Given the description of an element on the screen output the (x, y) to click on. 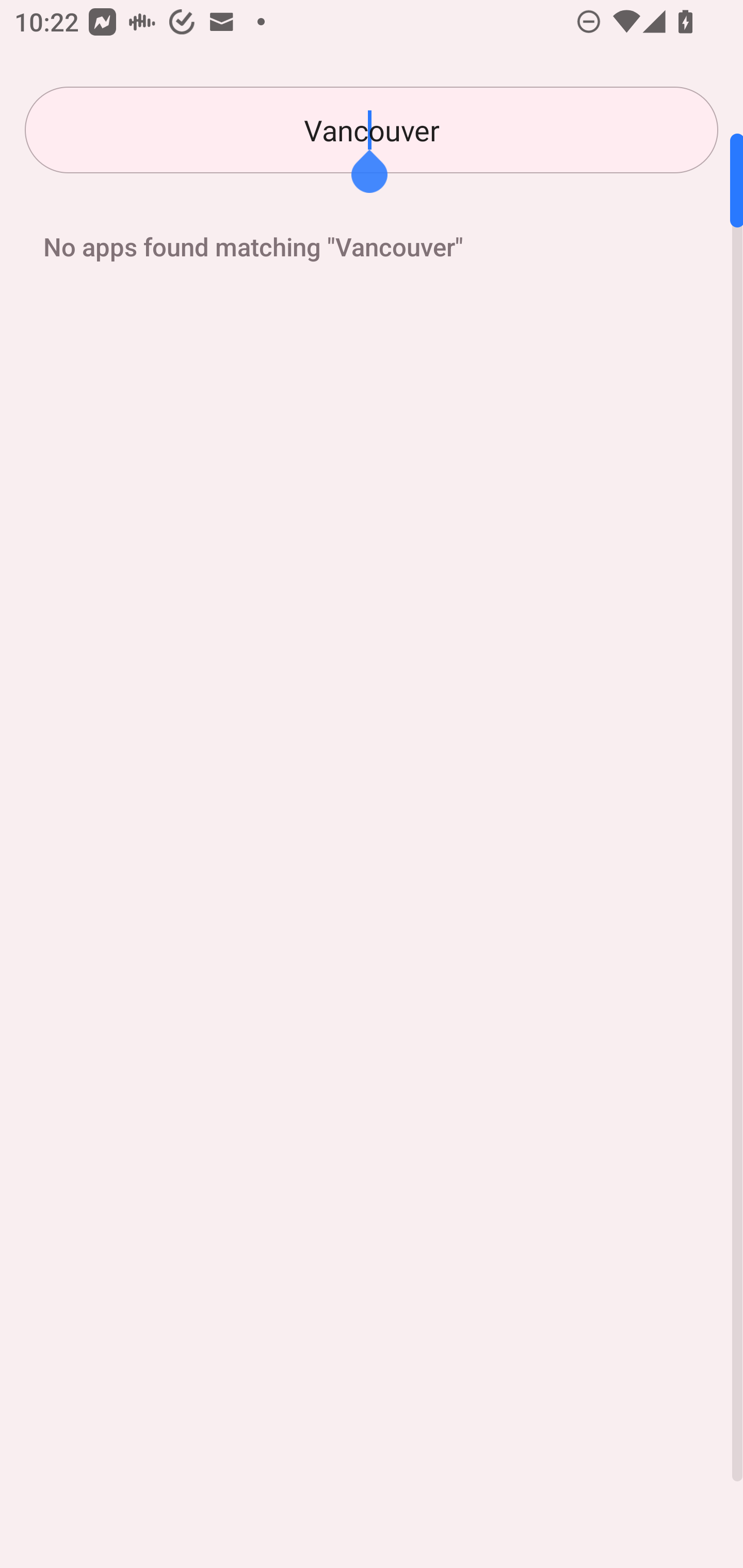
Vancouver (371, 130)
